Given the description of an element on the screen output the (x, y) to click on. 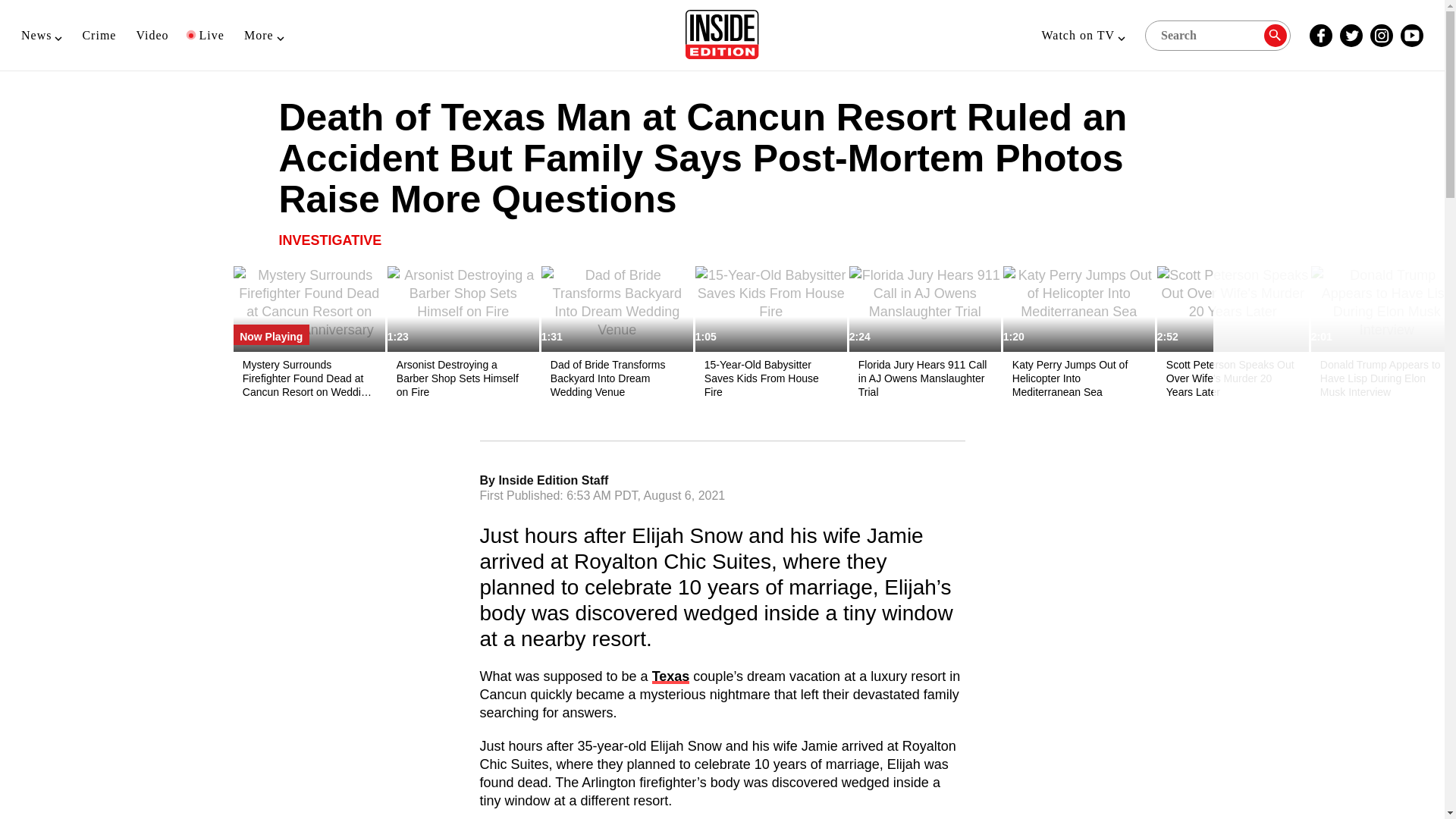
Video (151, 35)
Watch on TV (1083, 35)
Enter the terms you wish to search for. (1217, 34)
More (263, 35)
Crime (98, 35)
News (41, 35)
Live (206, 35)
